Given the description of an element on the screen output the (x, y) to click on. 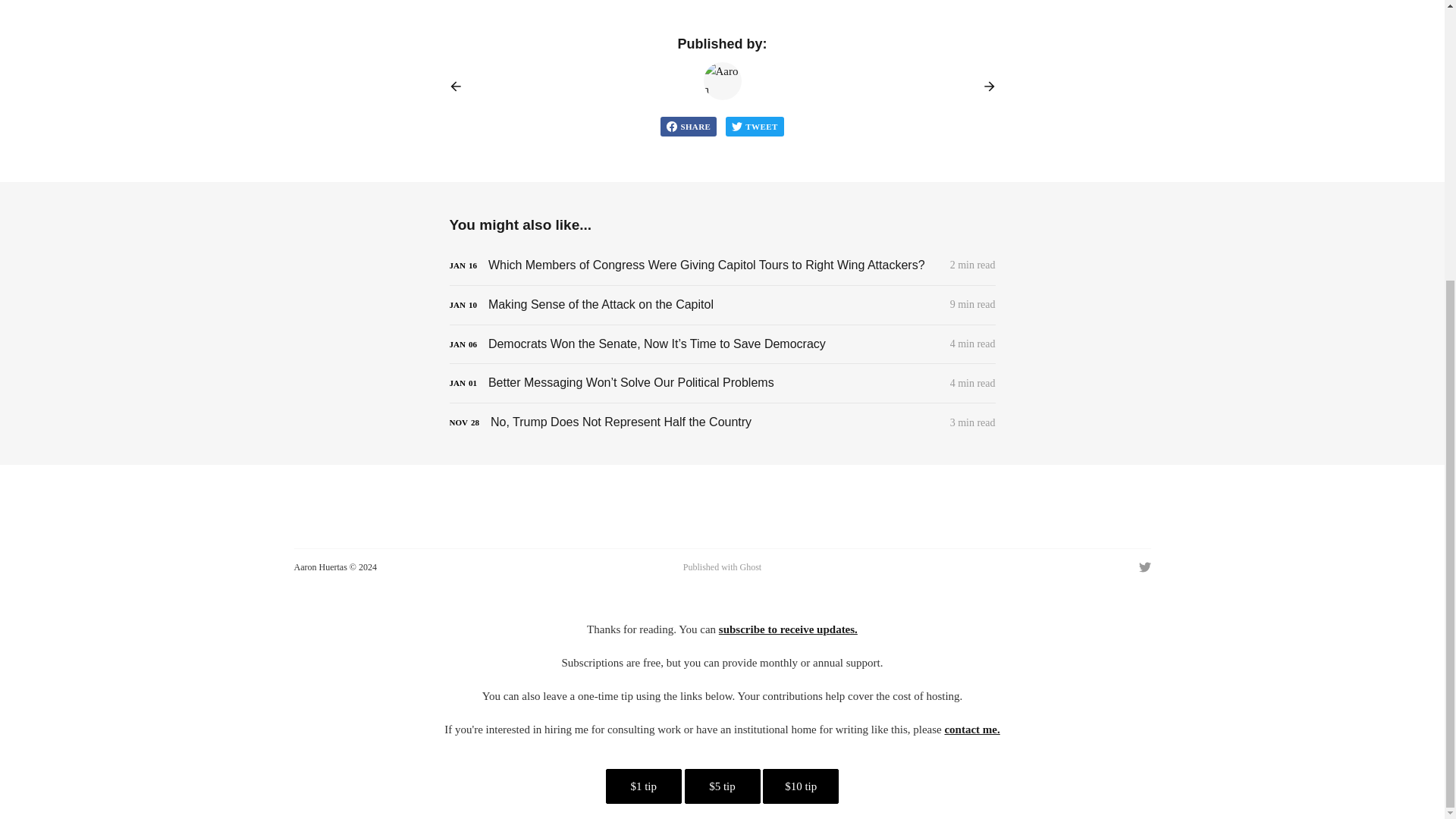
Published with Ghost (721, 567)
contact me. (970, 729)
subscribe to receive updates. (788, 629)
TWEET (754, 126)
SHARE (688, 126)
